Given the description of an element on the screen output the (x, y) to click on. 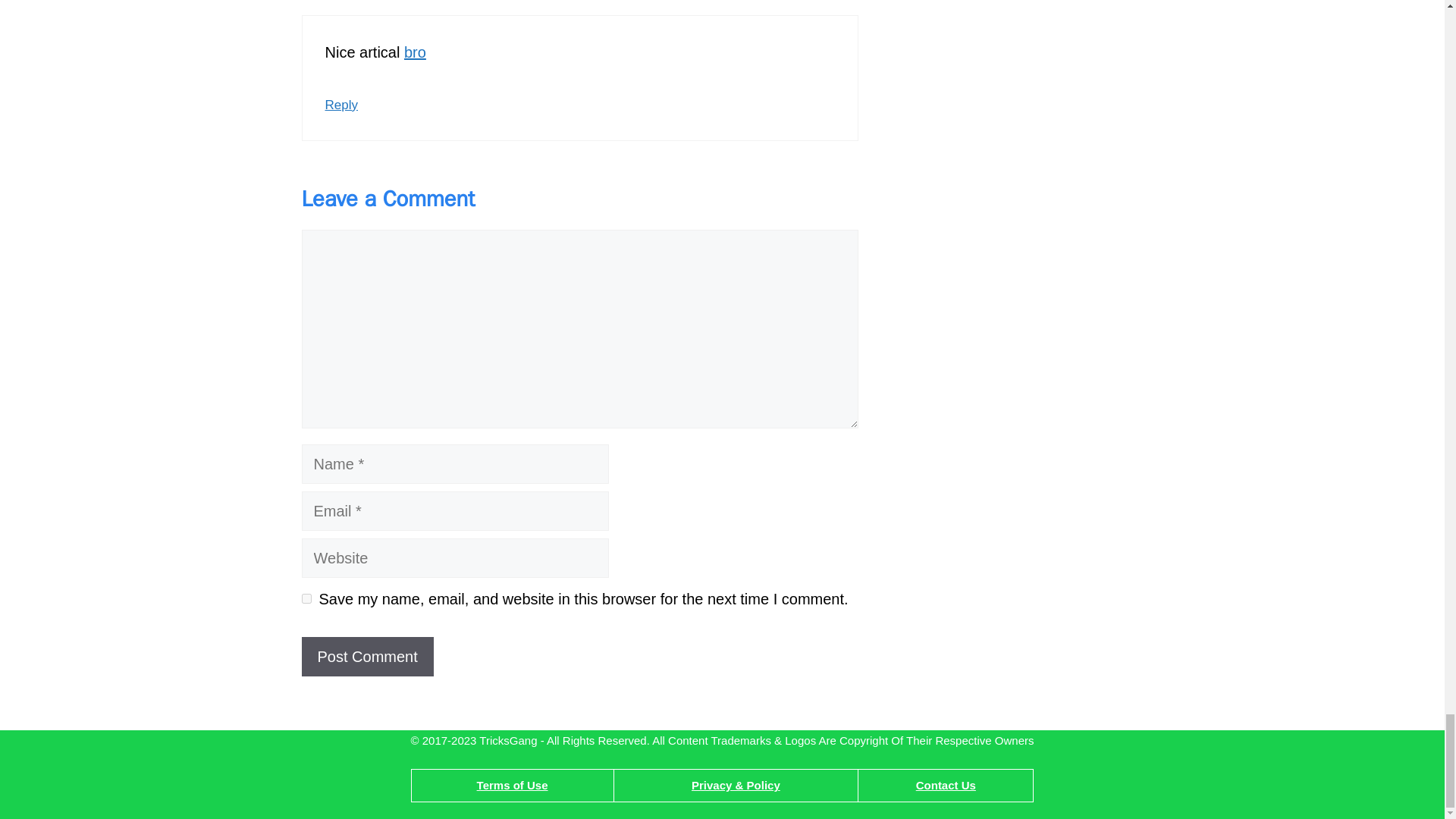
yes (306, 598)
Post Comment (367, 656)
